Given the description of an element on the screen output the (x, y) to click on. 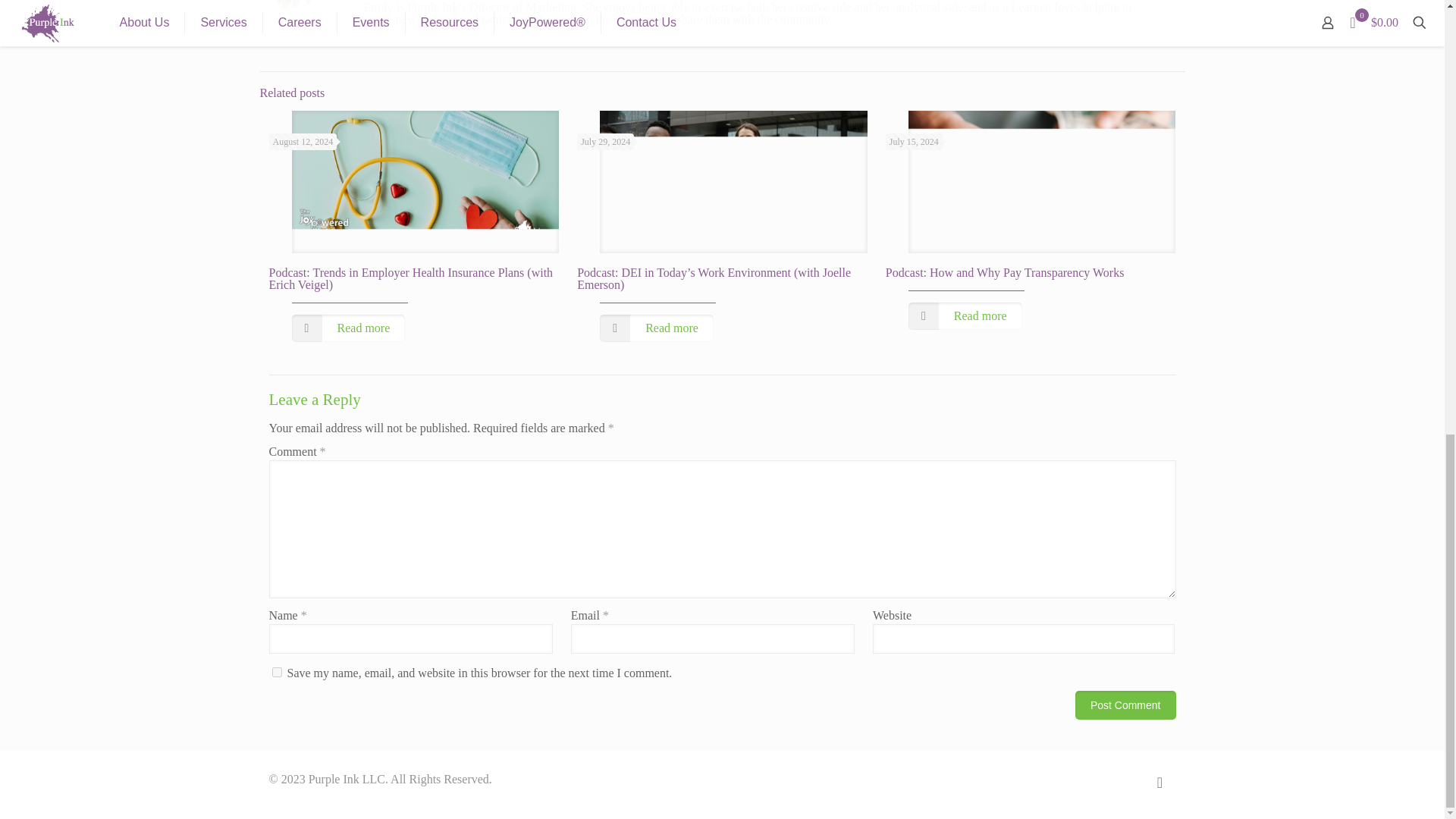
Post Comment (1125, 705)
Facebook (1091, 779)
LinkedIn (1123, 779)
yes (275, 672)
